Given the description of an element on the screen output the (x, y) to click on. 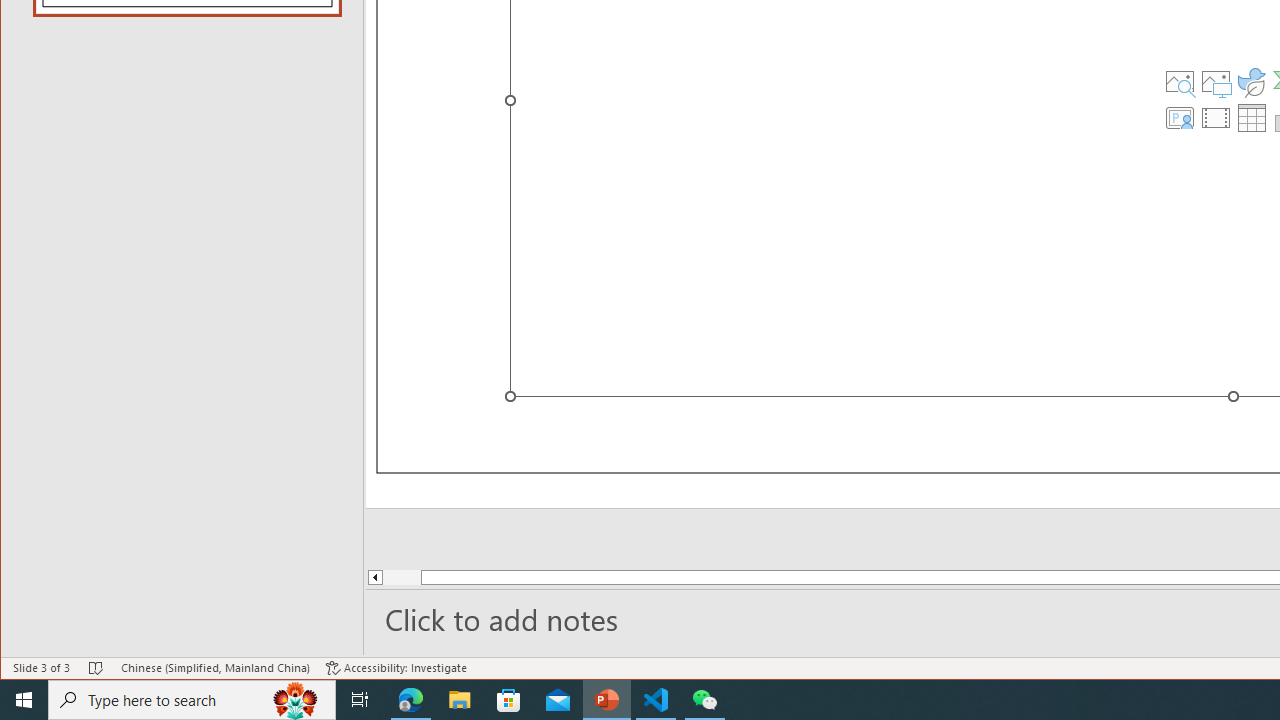
Stock Images (1179, 81)
Task View (359, 699)
Type here to search (191, 699)
Page up (438, 577)
File Explorer (460, 699)
Insert an Icon (1252, 81)
